Given the description of an element on the screen output the (x, y) to click on. 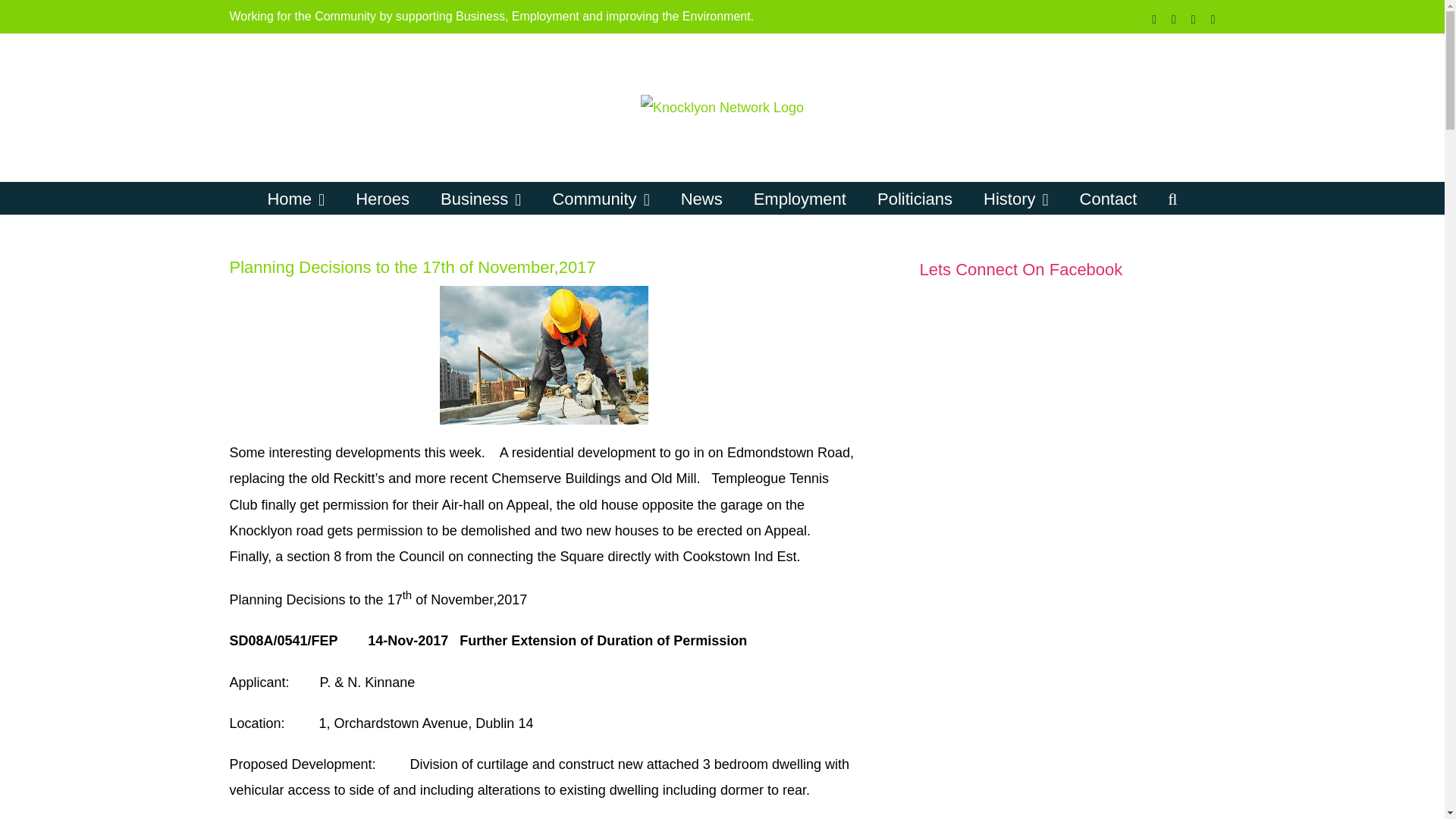
Community (600, 197)
Home (295, 197)
News (701, 197)
Politicians (914, 197)
Heroes (382, 197)
Business (481, 197)
Employment (799, 197)
Contact (1108, 197)
History (1016, 197)
